Given the description of an element on the screen output the (x, y) to click on. 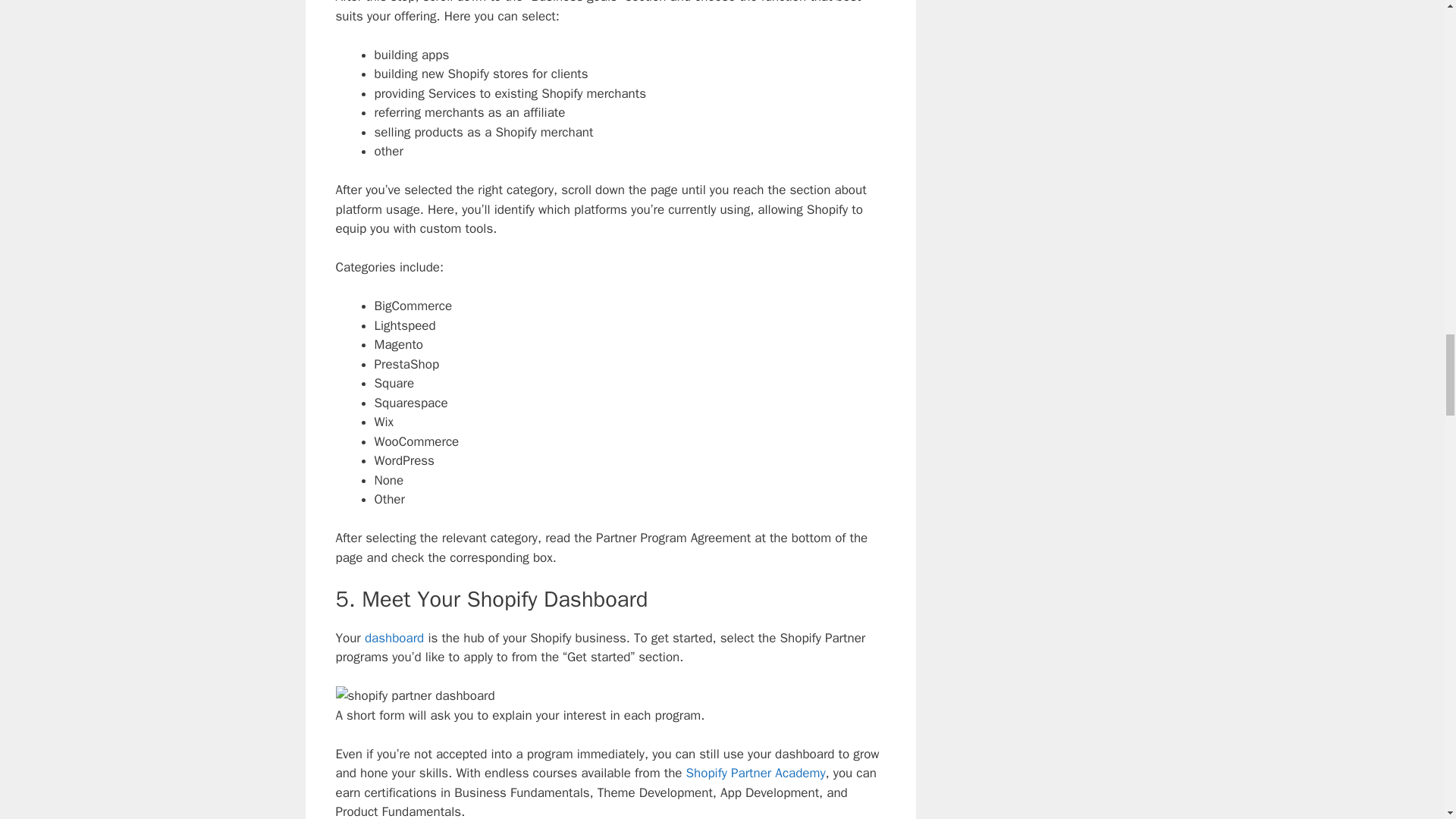
shopify partner dashboard (414, 695)
dashboard (394, 637)
Shopify Partner Academy (755, 772)
